Given the description of an element on the screen output the (x, y) to click on. 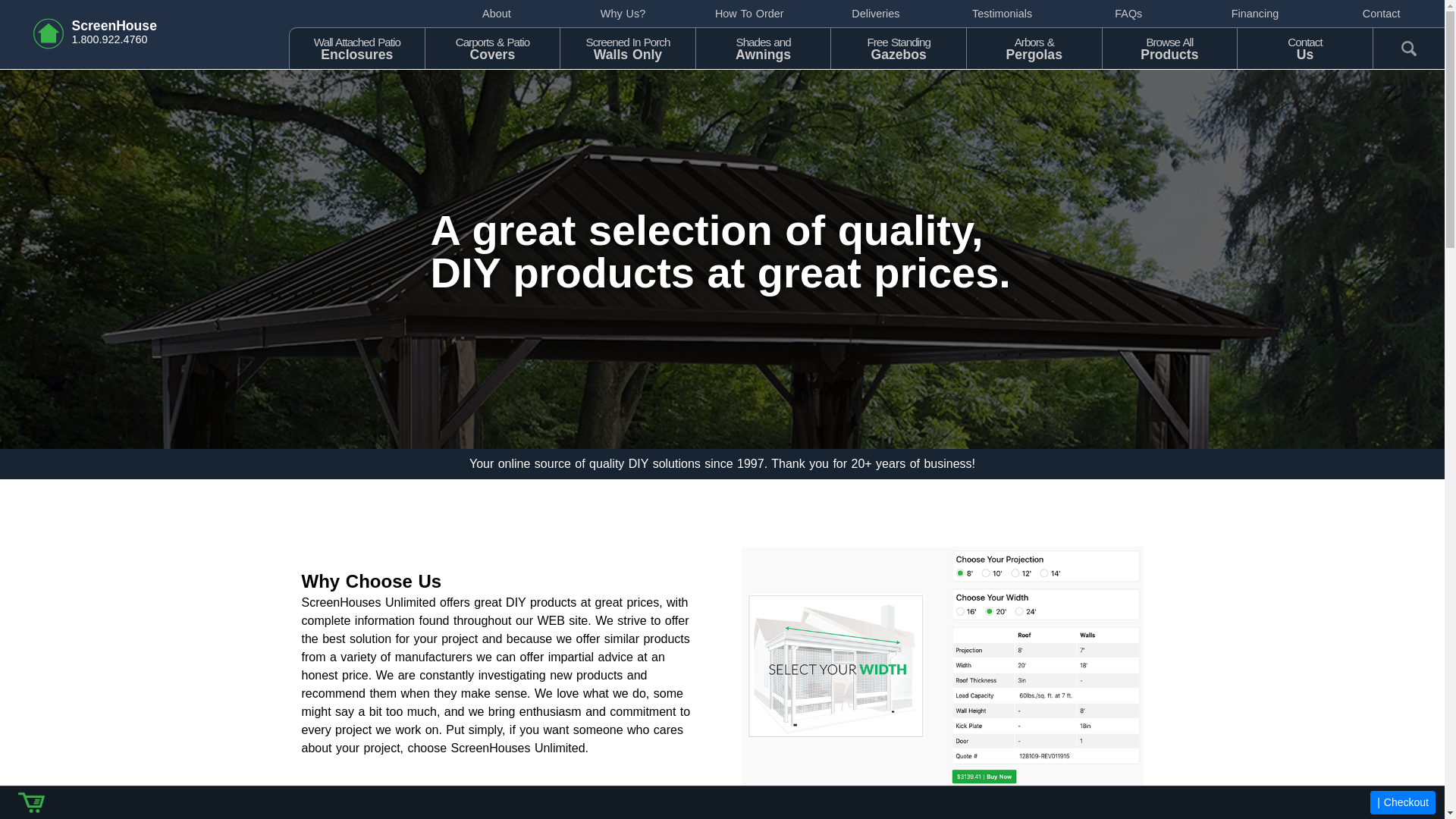
How To Order (627, 47)
Testimonials (748, 13)
About (1002, 13)
Why Us? (496, 13)
Financing (763, 47)
Deliveries (622, 13)
FAQs (1255, 13)
